Given the description of an element on the screen output the (x, y) to click on. 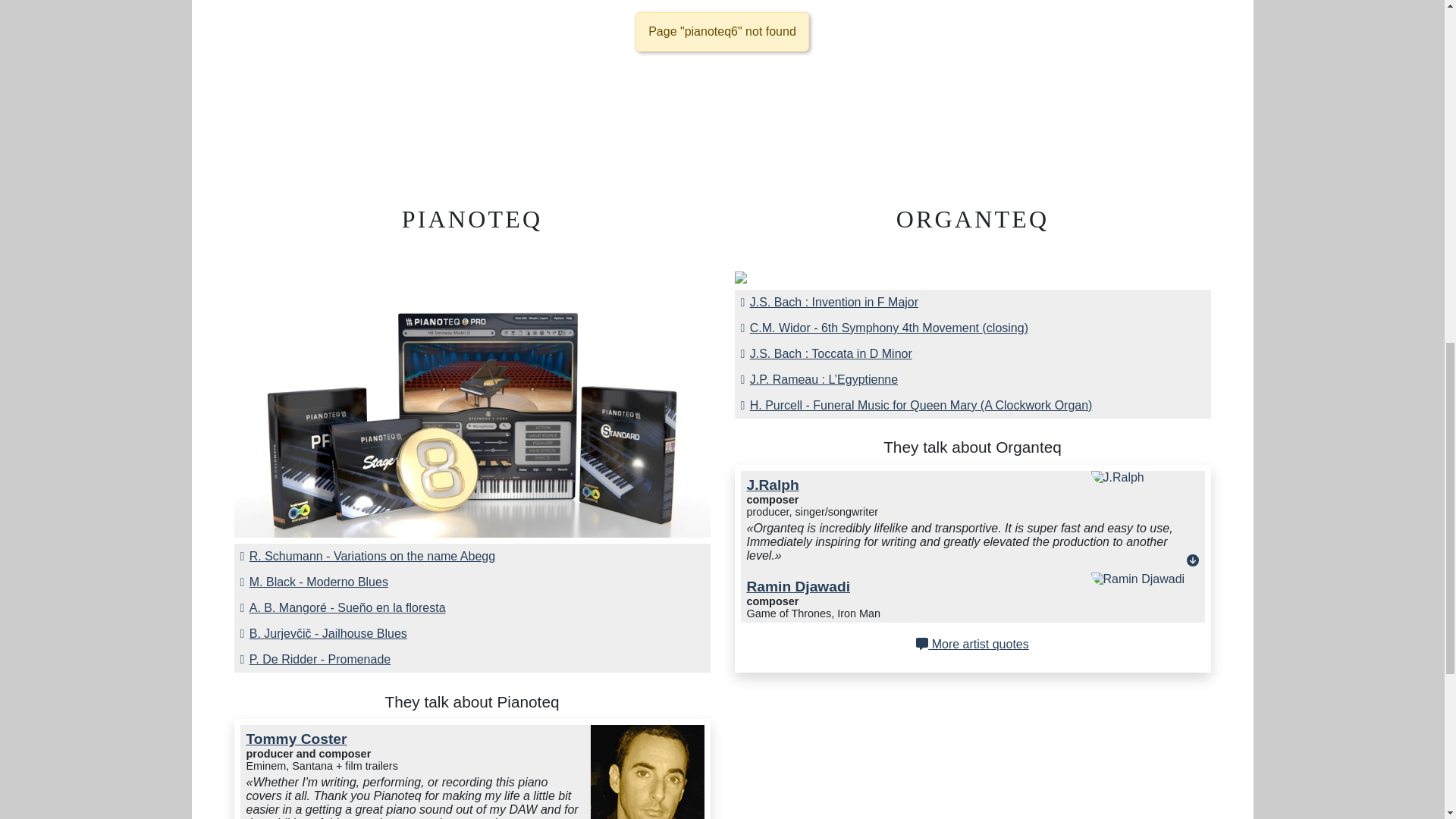
P. De Ridder - Promenade (471, 659)
R. Schumann - Variations on the name Abegg (471, 556)
Tommy Coster (296, 738)
M. Black - Moderno Blues (471, 582)
